Given the description of an element on the screen output the (x, y) to click on. 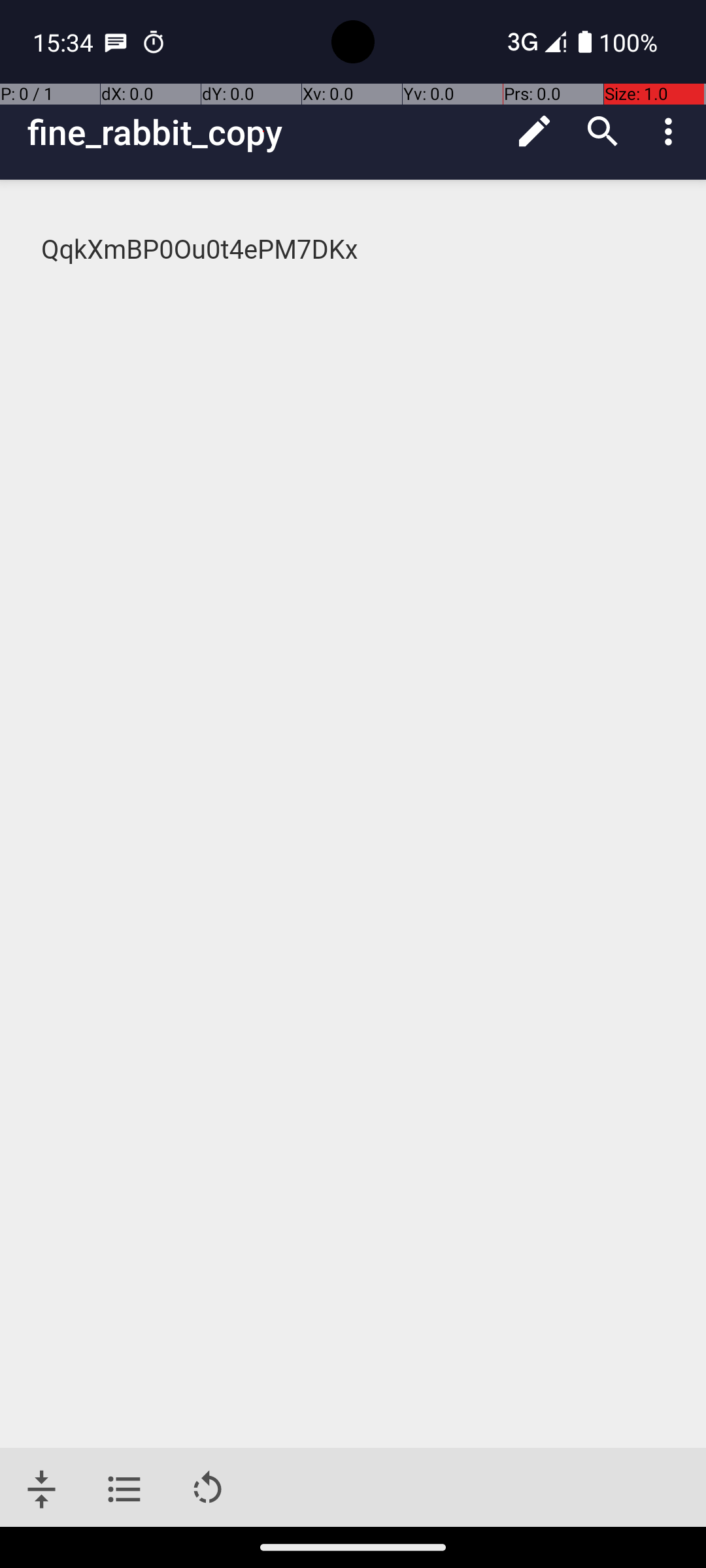
fine_rabbit_copy Element type: android.widget.TextView (263, 131)
QqkXmBP0Ou0t4ePM7DKx Element type: android.widget.TextView (354, 249)
